Given the description of an element on the screen output the (x, y) to click on. 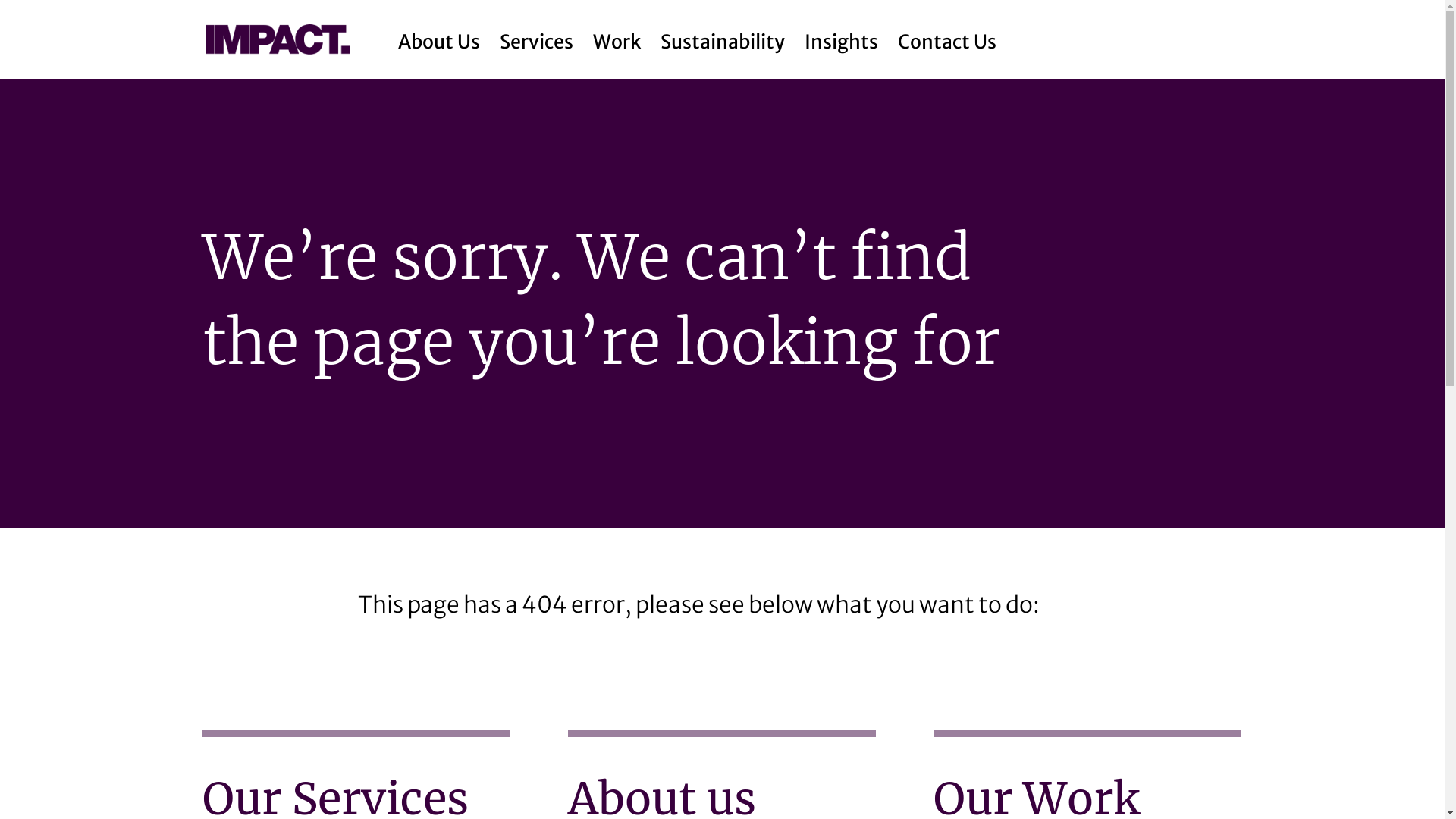
Work Element type: text (616, 35)
Contact Us Element type: text (946, 35)
About Us Element type: text (439, 35)
Insights Element type: text (841, 35)
Services Element type: text (536, 35)
Sustainability Element type: text (722, 35)
